Given the description of an element on the screen output the (x, y) to click on. 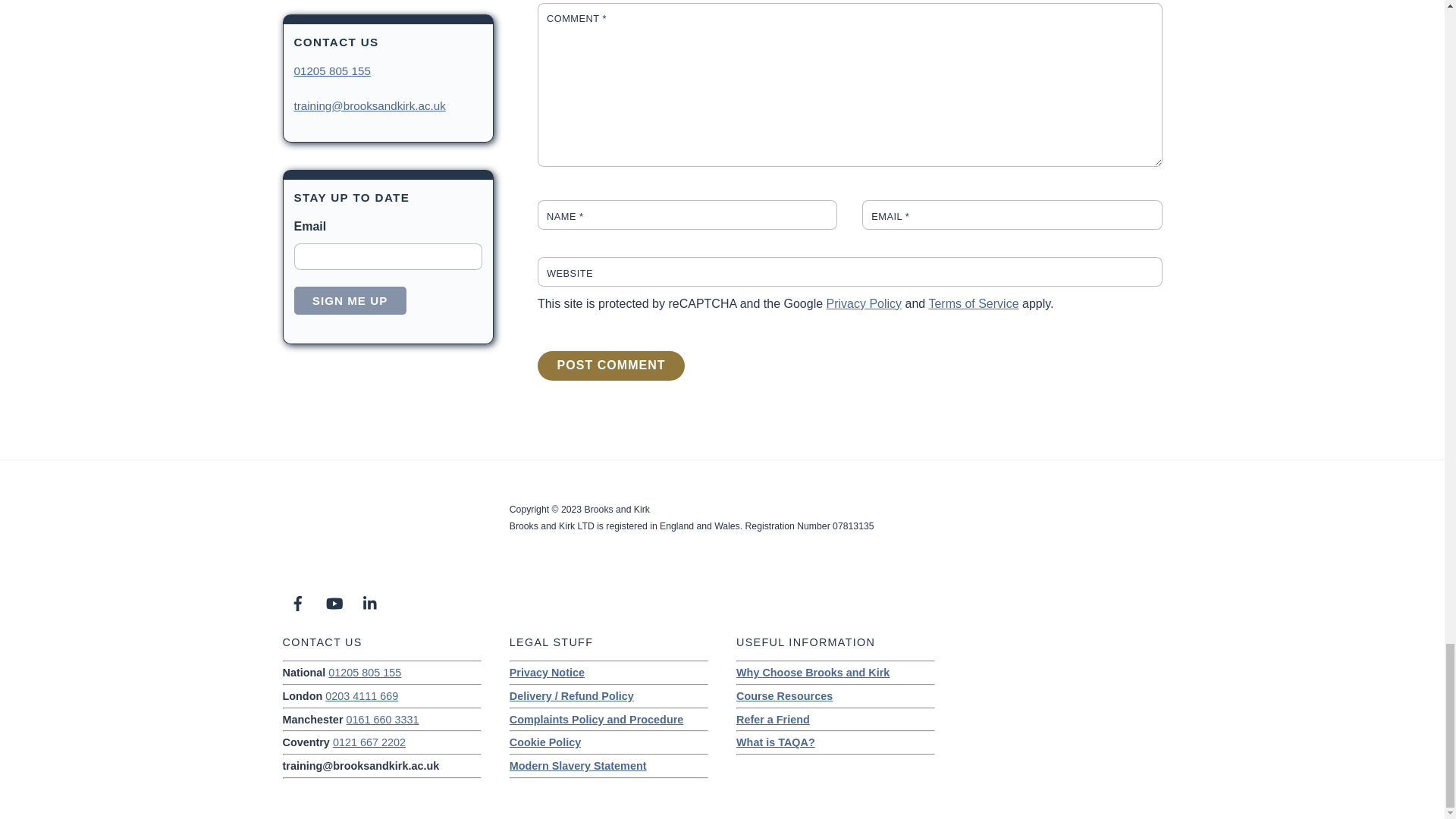
Post Comment (610, 365)
Brooks and Kirk (327, 563)
